Given the description of an element on the screen output the (x, y) to click on. 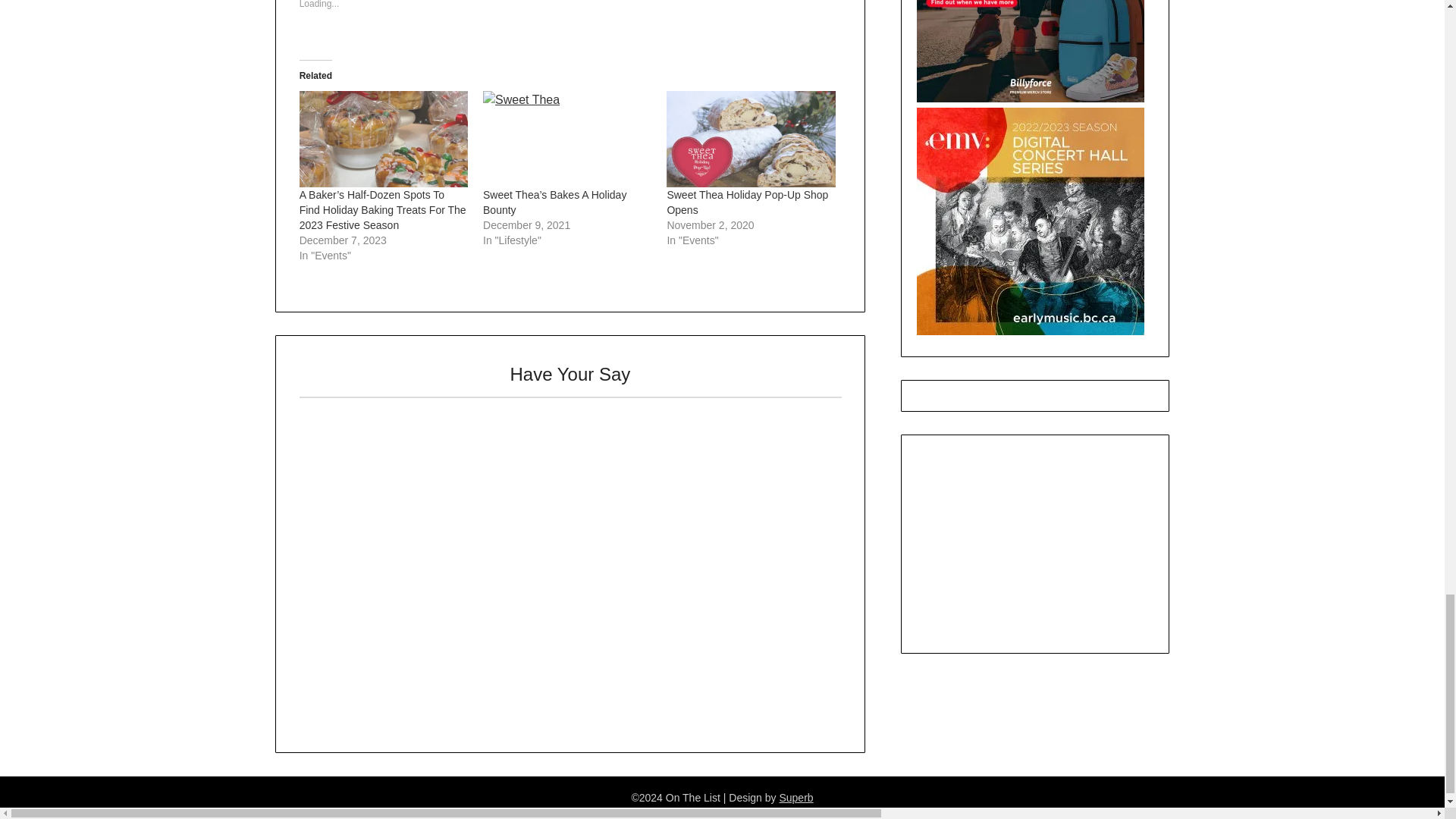
Sweet Thea Holiday Pop-Up Shop Opens (750, 138)
Sweet Thea Holiday Pop-Up Shop Opens (747, 202)
Sweet Thea Holiday Pop-Up Shop Opens (747, 202)
